Given the description of an element on the screen output the (x, y) to click on. 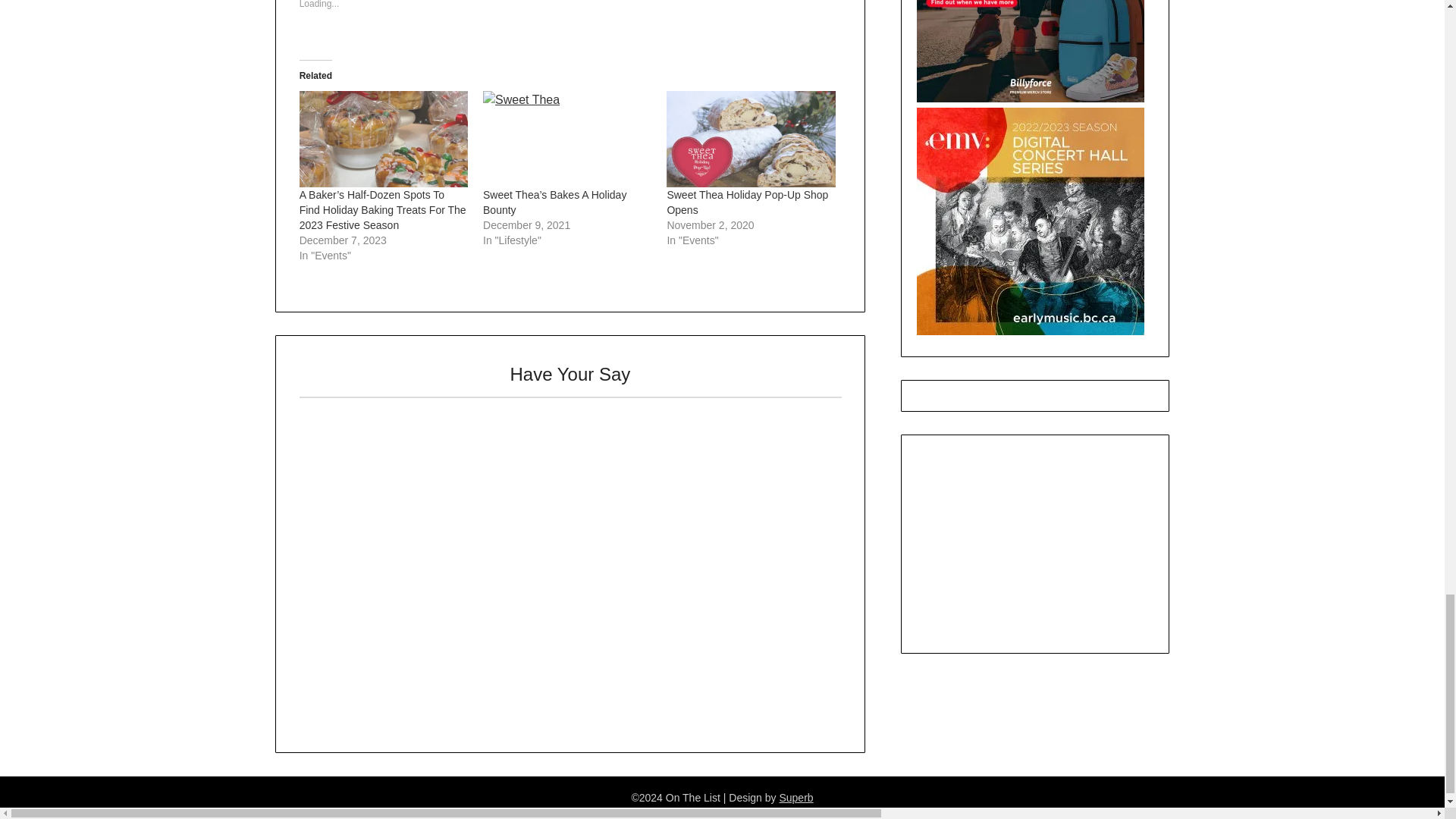
Sweet Thea Holiday Pop-Up Shop Opens (750, 138)
Sweet Thea Holiday Pop-Up Shop Opens (747, 202)
Sweet Thea Holiday Pop-Up Shop Opens (747, 202)
